Given the description of an element on the screen output the (x, y) to click on. 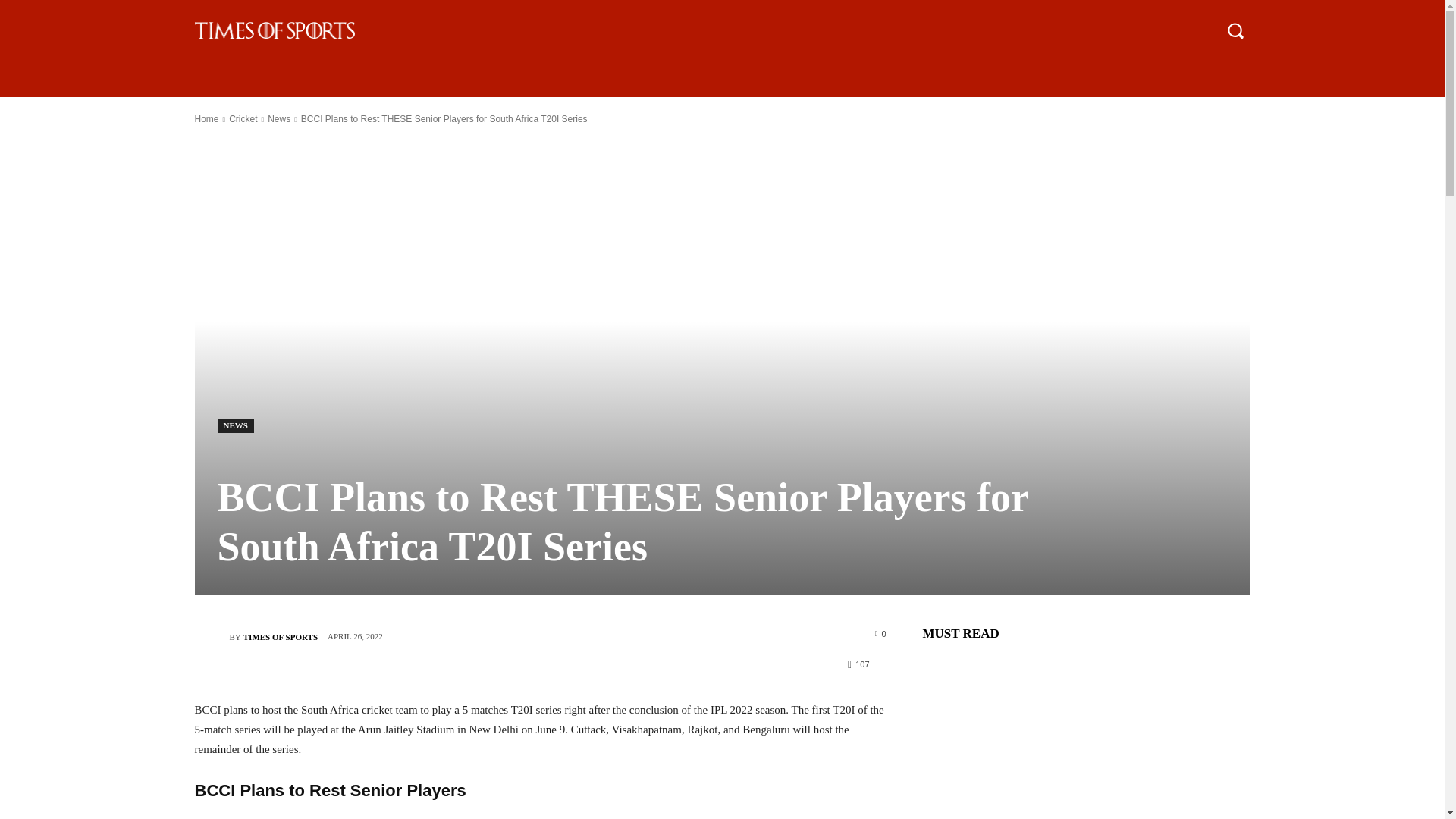
View all posts in Cricket (242, 118)
View all posts in News (278, 118)
Times of Sports (210, 636)
